Given the description of an element on the screen output the (x, y) to click on. 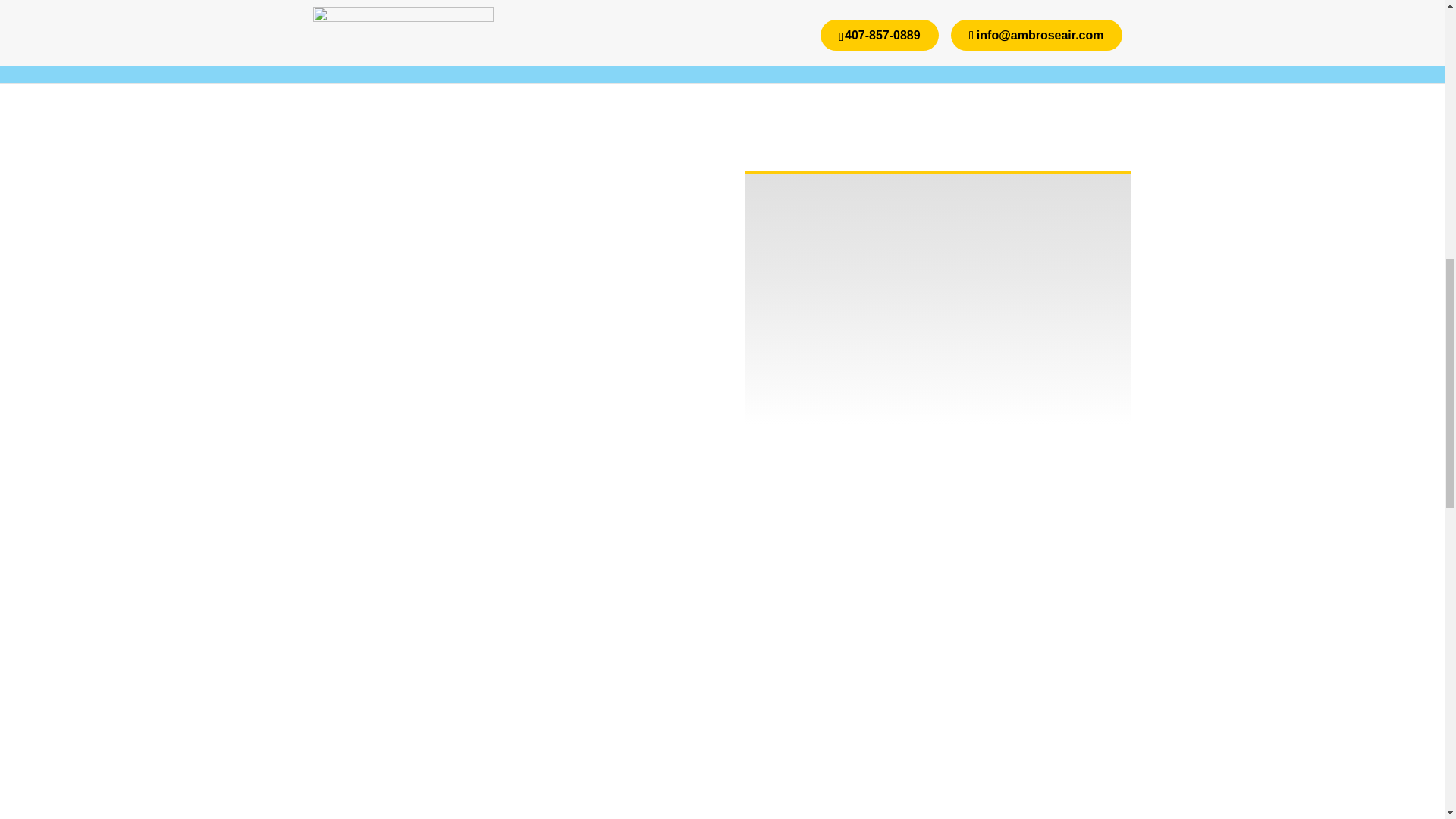
ice-machine-img-1 (937, 298)
